Given the description of an element on the screen output the (x, y) to click on. 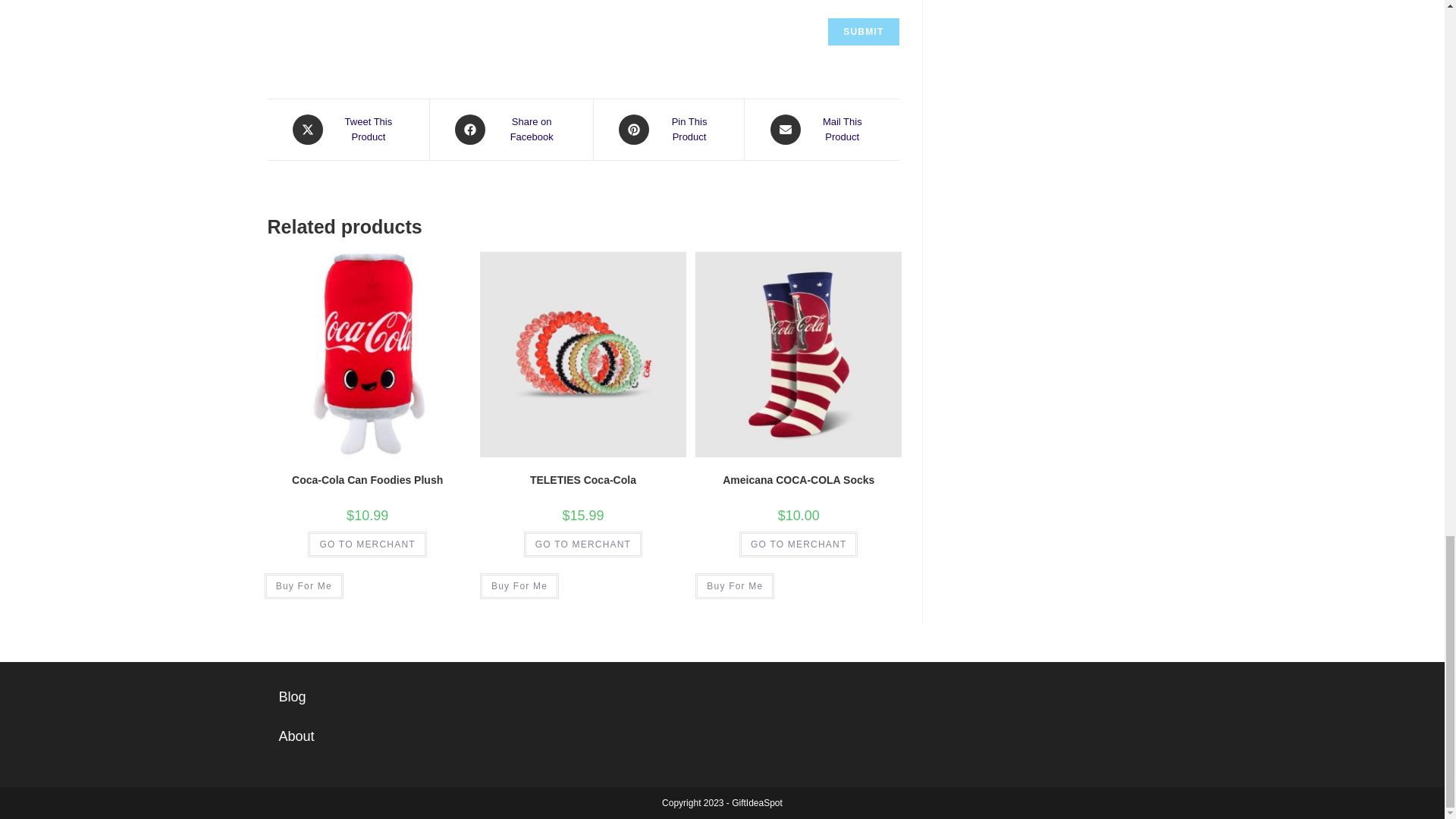
Submit (863, 31)
